Given the description of an element on the screen output the (x, y) to click on. 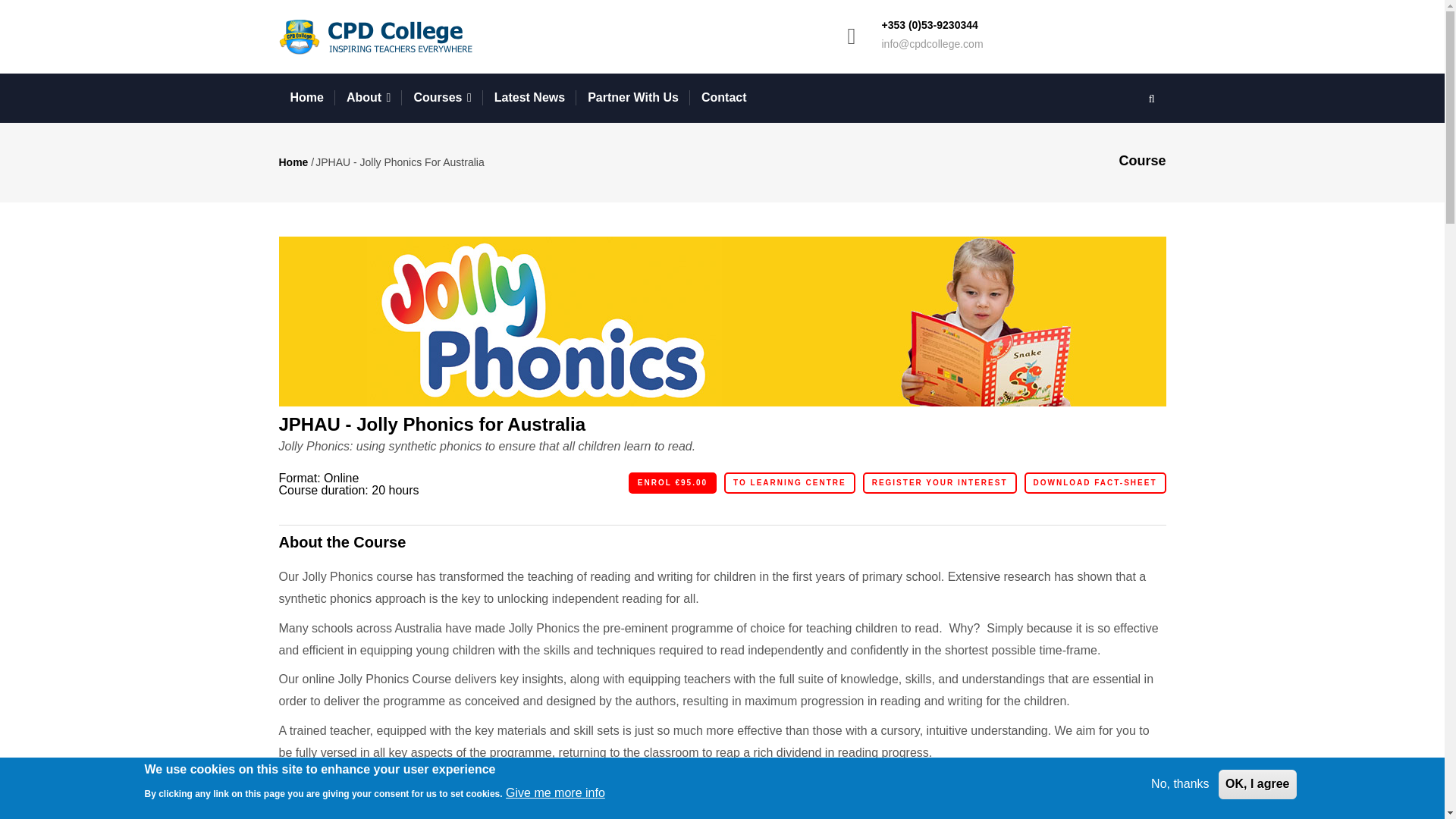
Courses (441, 97)
Home (293, 162)
OK, I agree (1256, 784)
Latest News (529, 97)
REGISTER YOUR INTEREST (939, 482)
No, thanks (1179, 784)
Partner With Us (633, 97)
DOWNLOAD FACT-SHEET (1094, 482)
Home (381, 36)
Give me more info (555, 793)
About (368, 97)
TO LEARNING CENTRE (789, 482)
Home (306, 97)
Contact (724, 97)
